Given the description of an element on the screen output the (x, y) to click on. 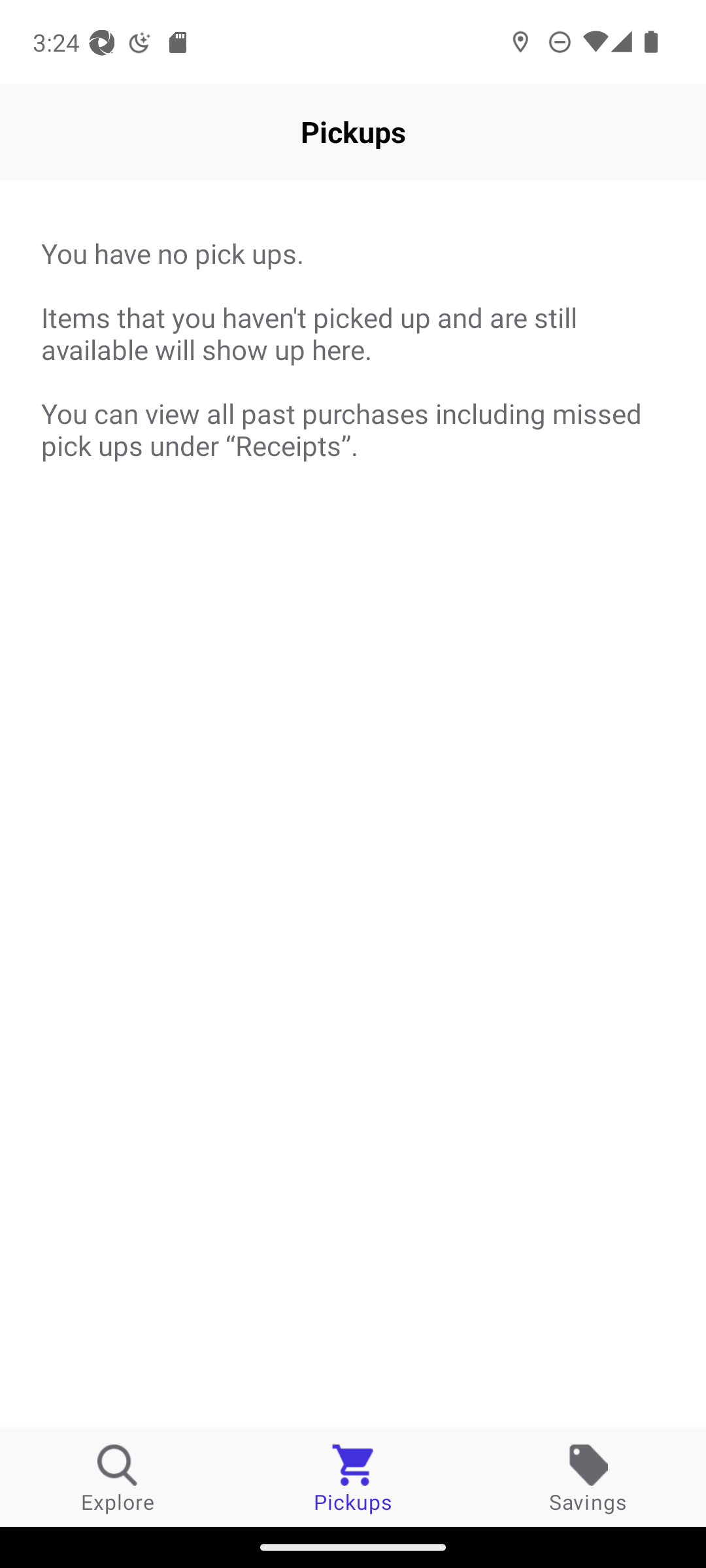
Explore (117, 1478)
Savings (588, 1478)
